Given the description of an element on the screen output the (x, y) to click on. 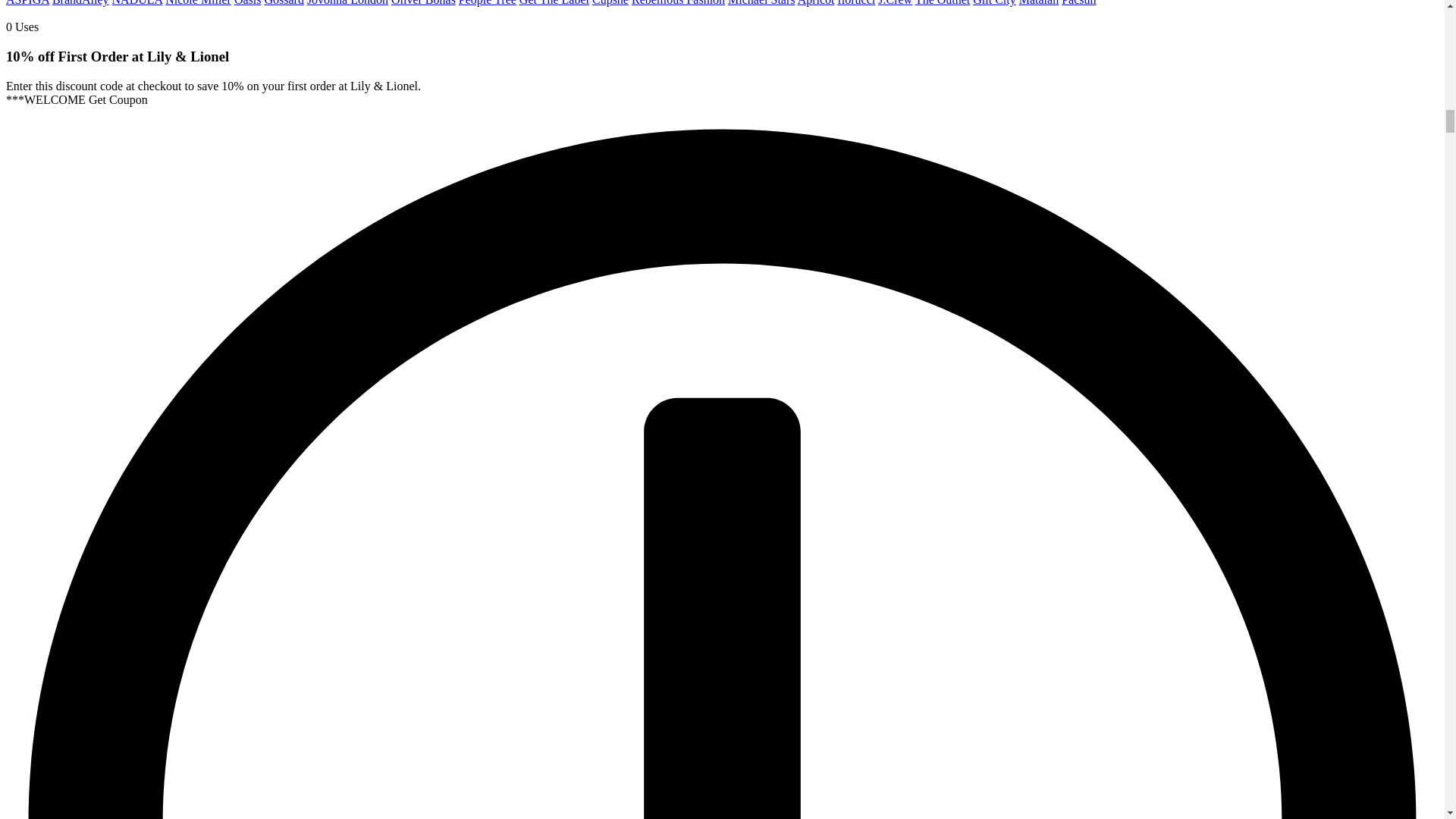
Gossard (282, 2)
Oasis (248, 2)
J.Crew (894, 2)
Michael Stars (761, 2)
Rebellious Fashion (678, 2)
BrandAlley (80, 2)
Cupshe (610, 2)
Jovonna London (347, 2)
Oliver Bonas (423, 2)
Nicole Miller (198, 2)
Get The Label (554, 2)
fiorucci (856, 2)
Gilt City (993, 2)
Matalan (1038, 2)
ASPIGA (27, 2)
